Given the description of an element on the screen output the (x, y) to click on. 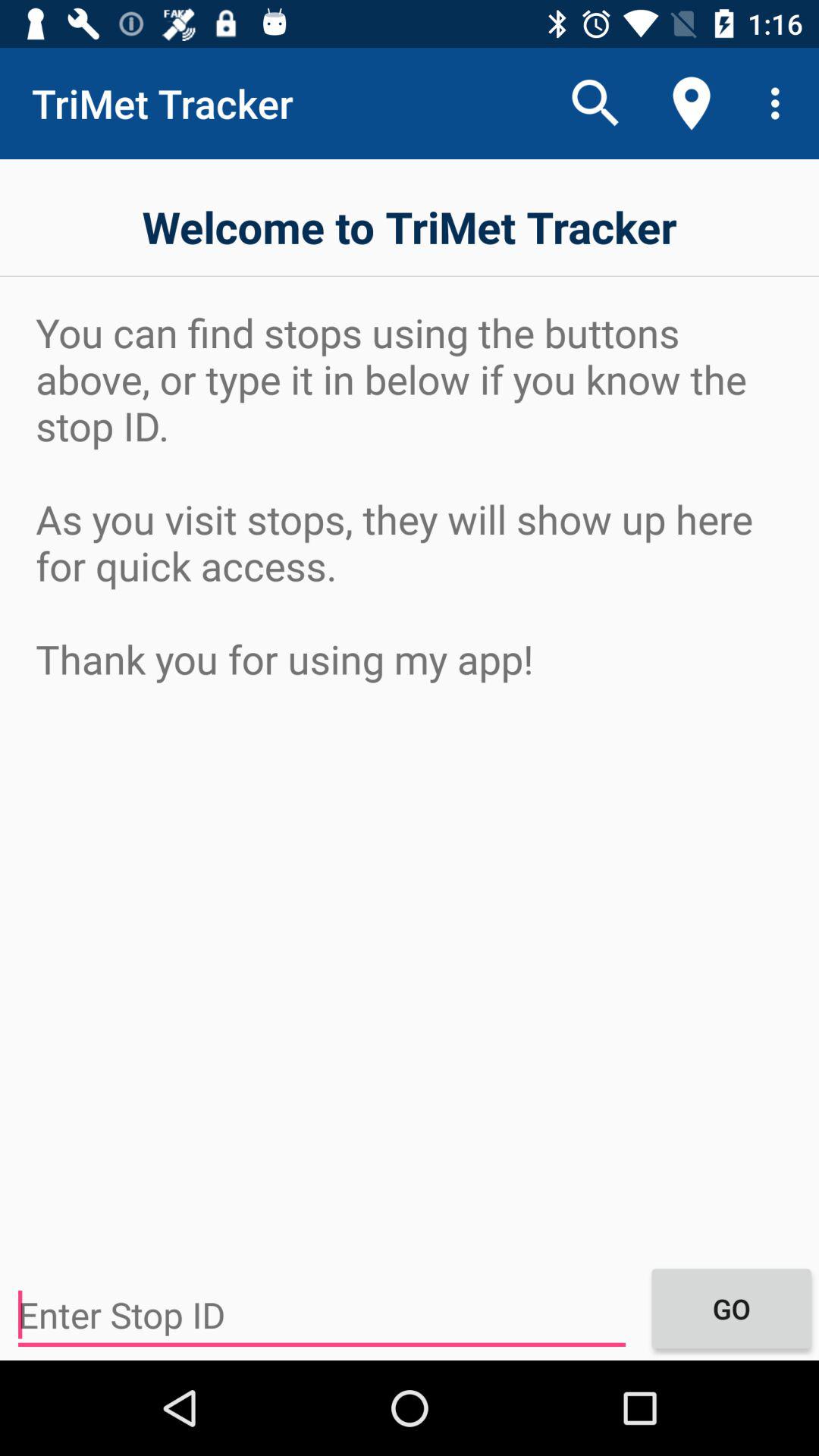
turn off icon below you can find item (731, 1308)
